Given the description of an element on the screen output the (x, y) to click on. 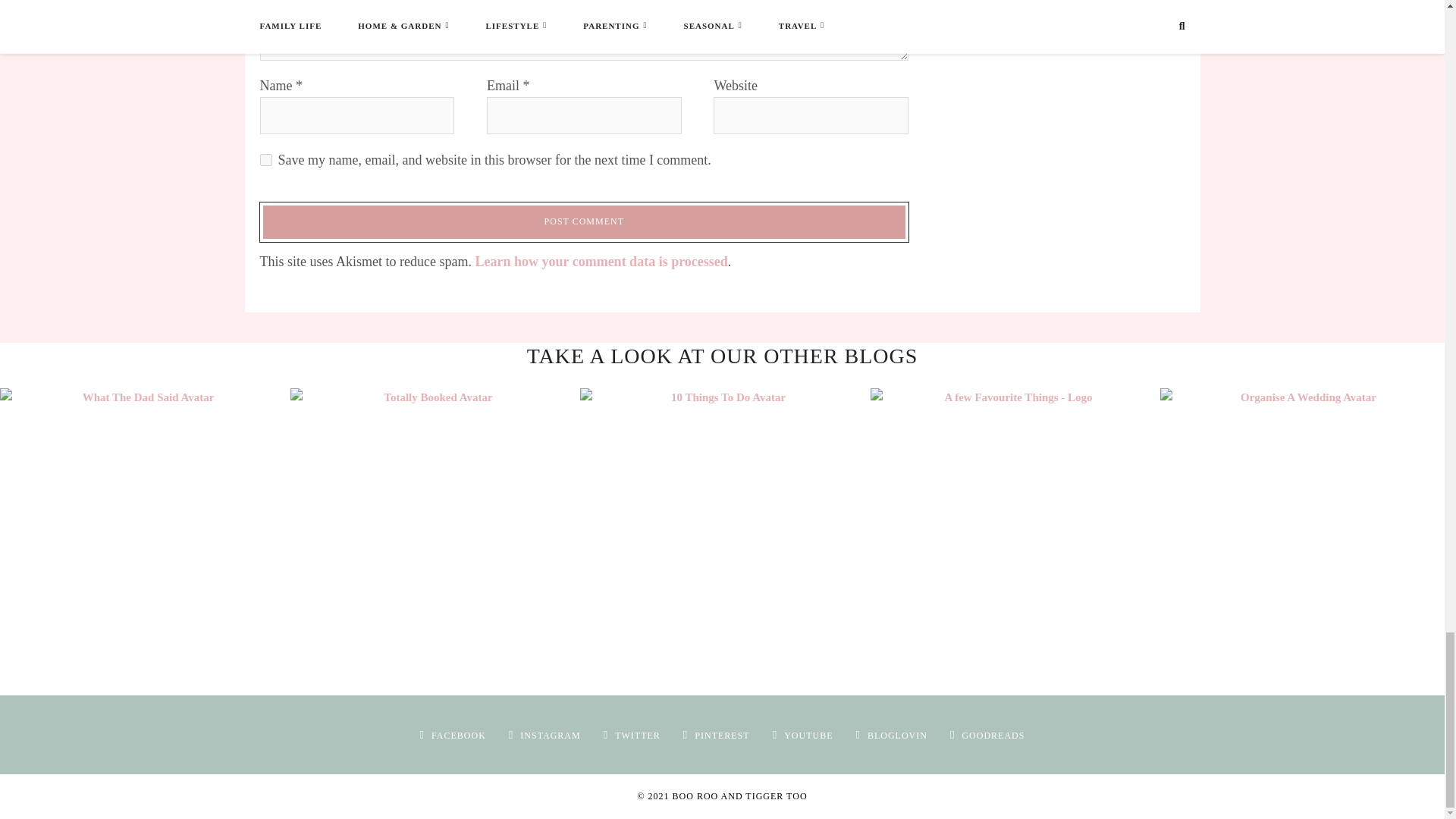
Post Comment (583, 221)
yes (264, 159)
